Given the description of an element on the screen output the (x, y) to click on. 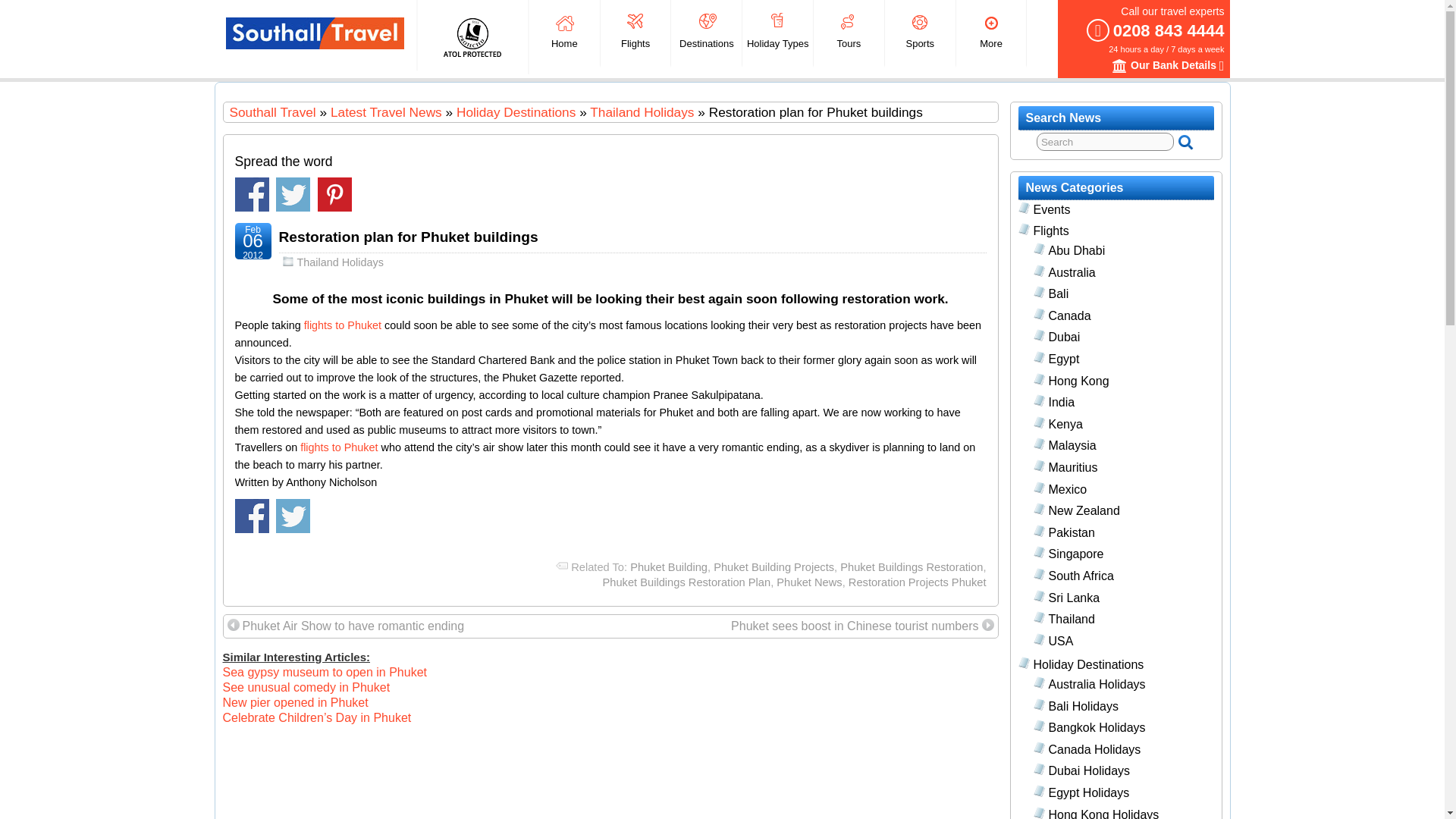
Home (564, 32)
Holiday Destinations (516, 111)
Thailand Holidays (641, 111)
Flights (635, 32)
Destinations (706, 32)
See unusual comedy in Phuket (306, 686)
Southall Travel (314, 33)
Search (1104, 141)
Restoration plan for Phuket buildings (408, 236)
Our Bank Details (1118, 65)
Sports (920, 32)
Latest Travel News (386, 111)
Tours (848, 32)
Search (1104, 141)
Holiday Types (777, 32)
